Given the description of an element on the screen output the (x, y) to click on. 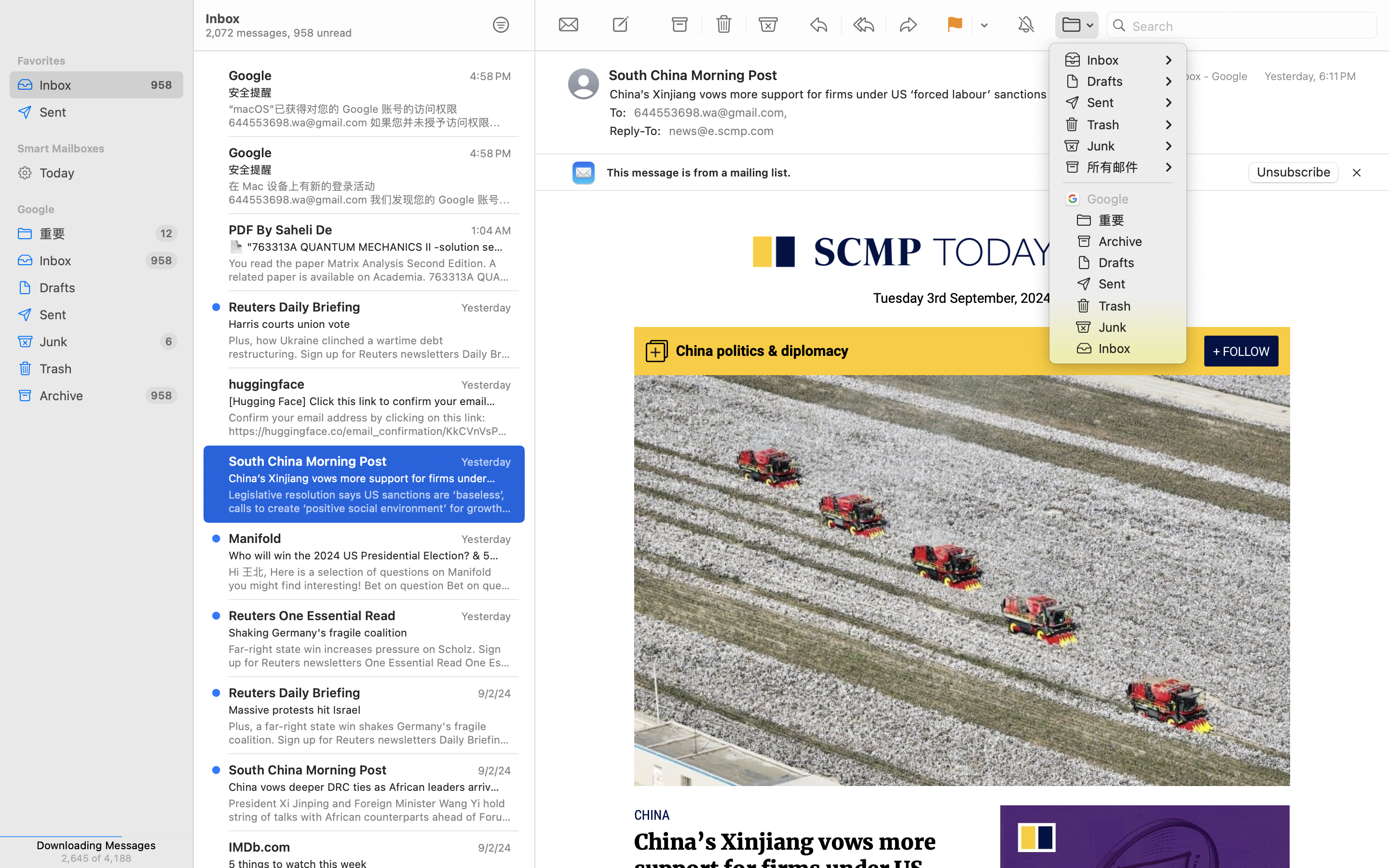
Shaking Germany's fragile coalition Element type: AXStaticText (365, 632)
IMDb.com Element type: AXStaticText (259, 846)
Far-right state win increases pressure on Scholz. Sign up for Reuters newsletters One Essential Read One Essential Read Recommended by Edson Caldas, Newsletter Editor Pressure mounts on Scholz Right-wing Alternative for Germany top candidate Bjoern Hoecke on the day of the Thuringia state election. REUTERS/Wolfgang Rattay The Alternative for Germany is on track to become the first far-right party to win a regional election in Germany since World War Two, dealing a blow to parties in Chancellor Olaf Scholz's government. The results are likely to aggravate instability in an already fractious ruling coalition, Chief Correspondent Sarah Marsh reports. The German government's faltering authority could also complicate European policy when the bloc's other major power France is still struggling to form a government. Read the full article Sponsors are not involved in the creation of newsletters or other Reuters news content. Advertise in this newsletter or on Reuters.com Reuters One Essential R Element type: AXStaticText (369, 655)
Who will win the 2024 US Presidential Election? & 5 more interesting markets on Manifold Element type: AXStaticText (365, 555)
Plus, a far-right state win shakes Germany's fragile coalition. Sign up for Reuters newsletters Daily Briefing Daily Briefing By Edson Caldas Frustration is mounting over Israel's failure to secure a ceasefire deal that would free hostages. Today, we cover massive protests across the country and a general strike. Elsewhere, a far-right state win shakes Germany's fragile coalition, and a Russian missile attack rocks Kyiv and other parts of Ukraine. Plus, the latest from the Paris Paralympics. Today's Top News Hundreds of thousands protested across Israel on Sunday. REUTERS/Florion Goga War in Gaza Municipal services in several Israeli districts were disrupted today after the country's biggest labor union launched a general strike to pressure Prime Minister Benjamin Netanyahu into agreeing to a deal to bring Israeli hostages in Gaza home. Over the weekend, massive protests swept the country following the death of six hostages in Gaza. Crowds estimated by Israeli media to number up to 500 Element type: AXStaticText (369, 732)
